Given the description of an element on the screen output the (x, y) to click on. 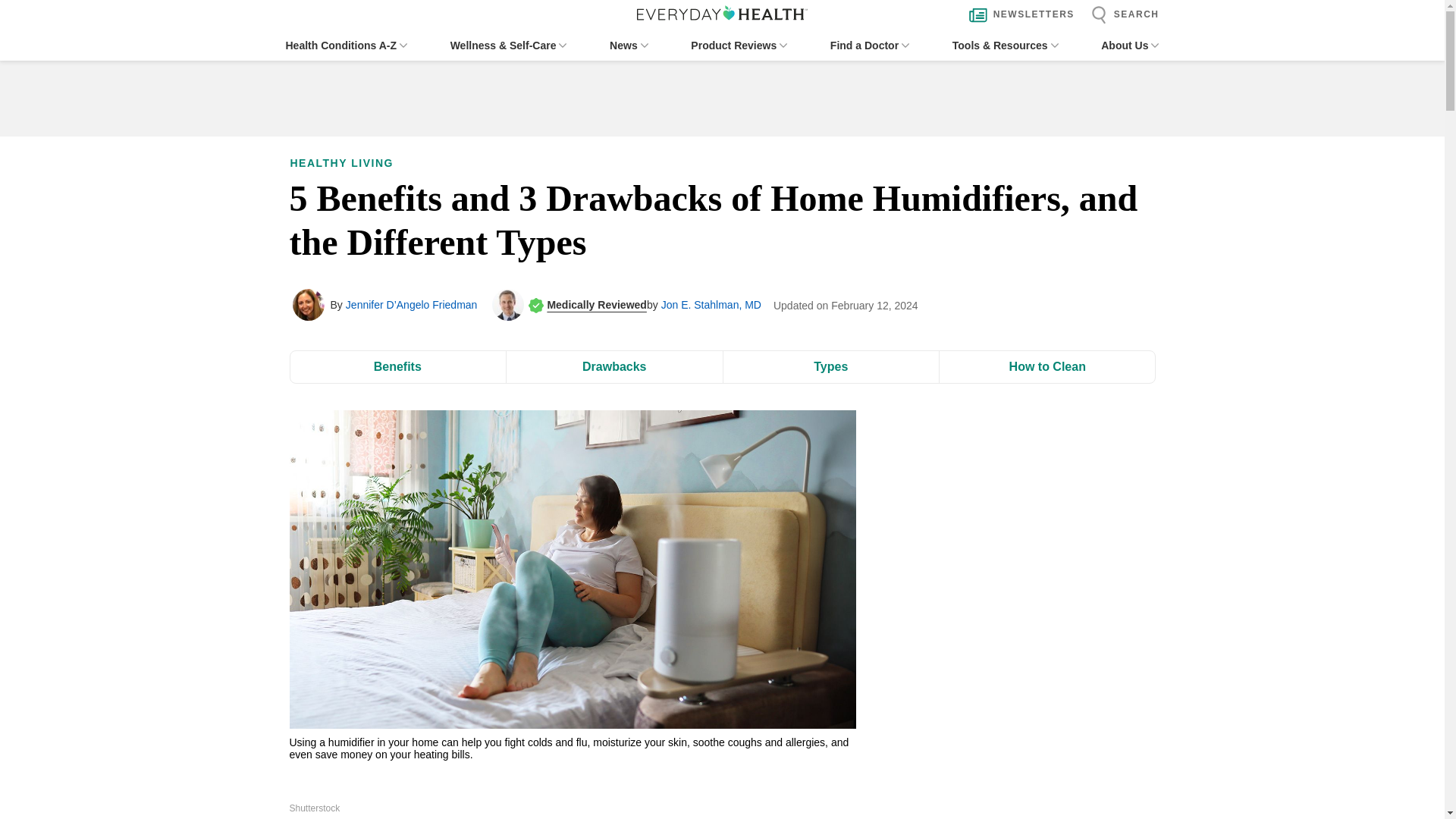
Product Reviews (738, 45)
News (628, 45)
Health Conditions A-Z (345, 45)
Find a Doctor (868, 45)
NEWSLETTERS (1018, 15)
About Us (1129, 45)
SEARCH (1120, 15)
